Given the description of an element on the screen output the (x, y) to click on. 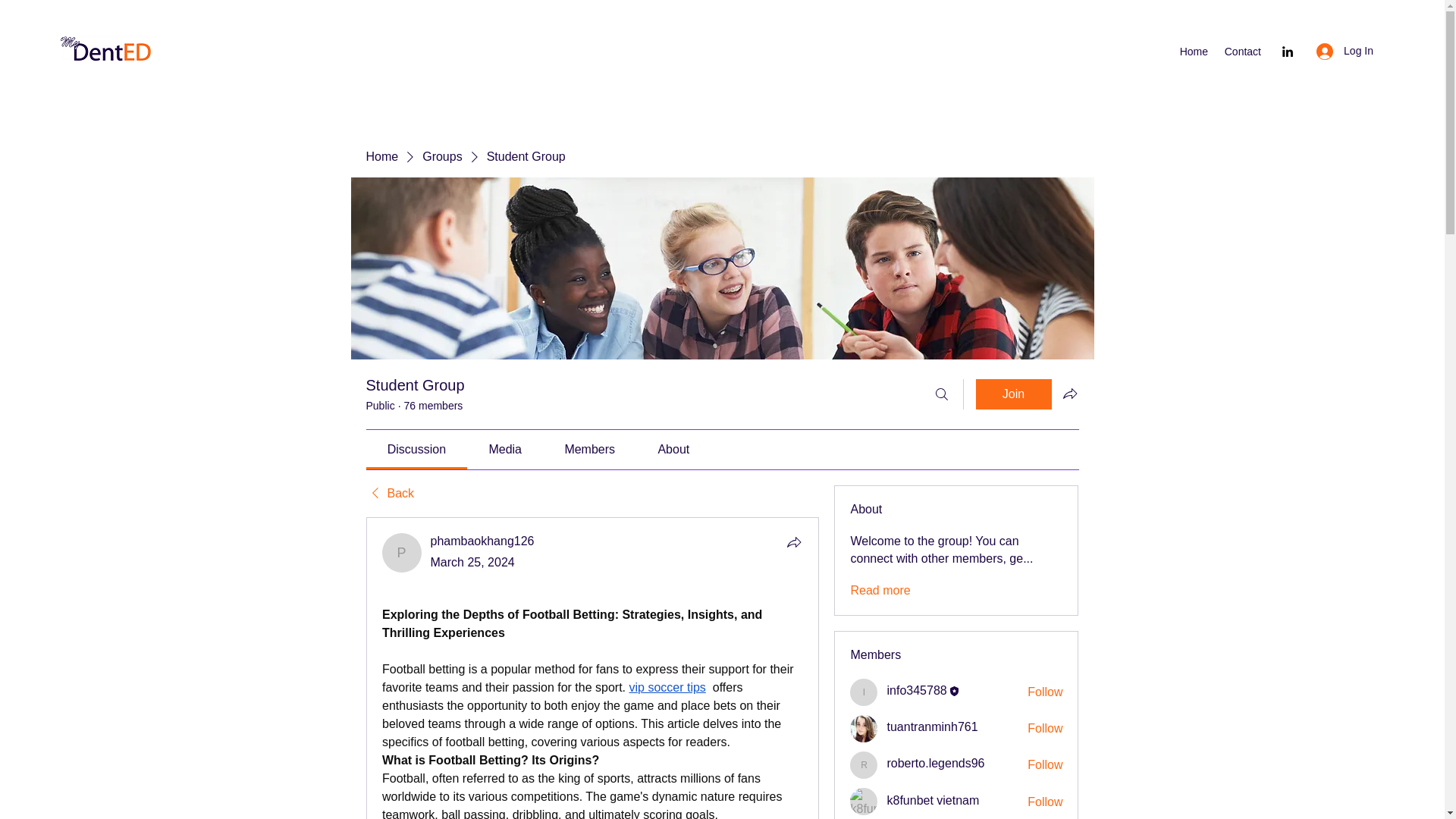
tuantranminh761 (931, 727)
tuantranminh761 (863, 728)
phambaokhang126 (482, 540)
roberto.legends96 (863, 764)
Follow (1044, 801)
info345788 (916, 690)
k8funbet vietnam (863, 800)
Log In (1345, 50)
Follow (1044, 692)
Read more (880, 590)
